Given the description of an element on the screen output the (x, y) to click on. 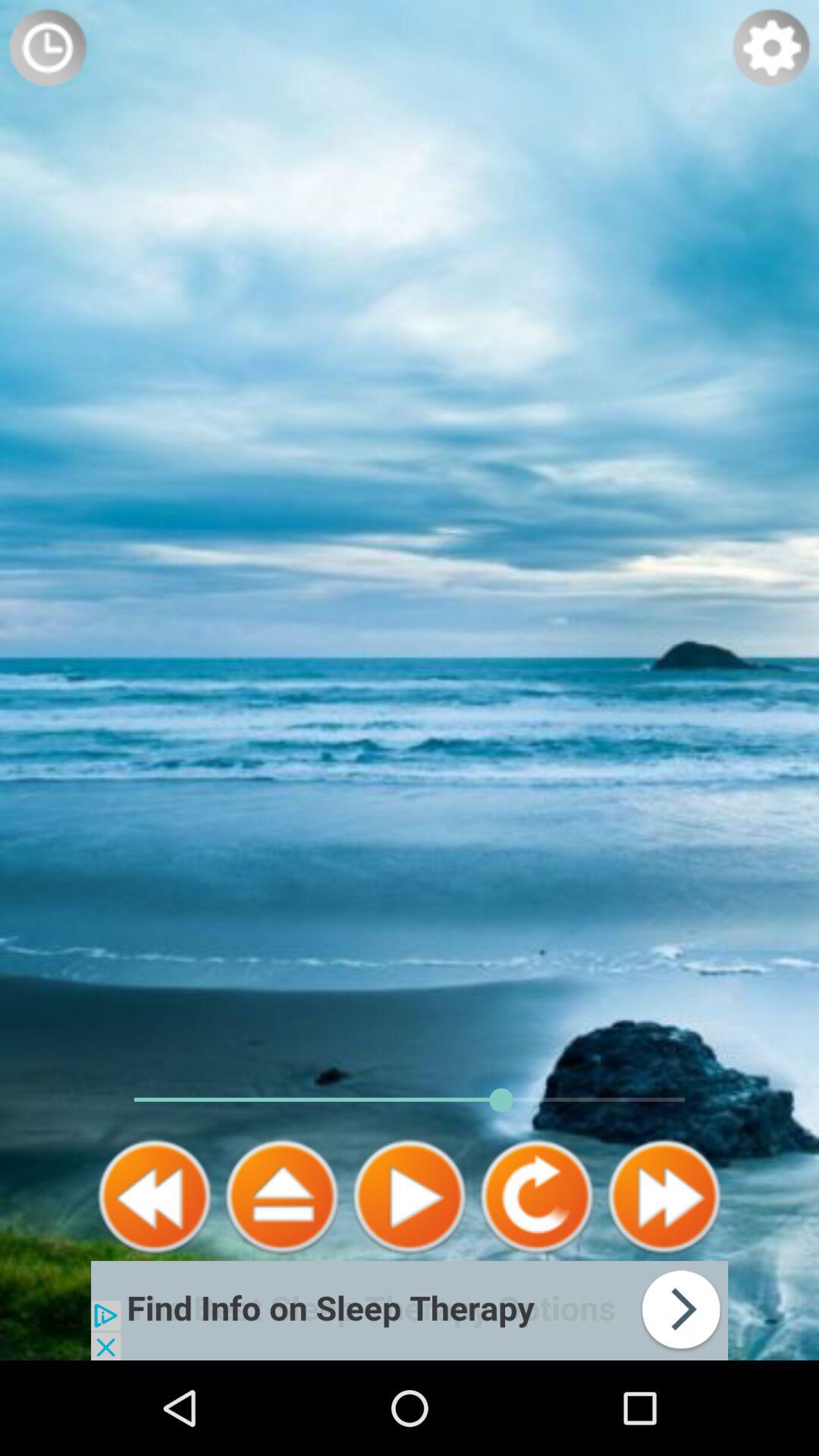
advertising (409, 1310)
